Given the description of an element on the screen output the (x, y) to click on. 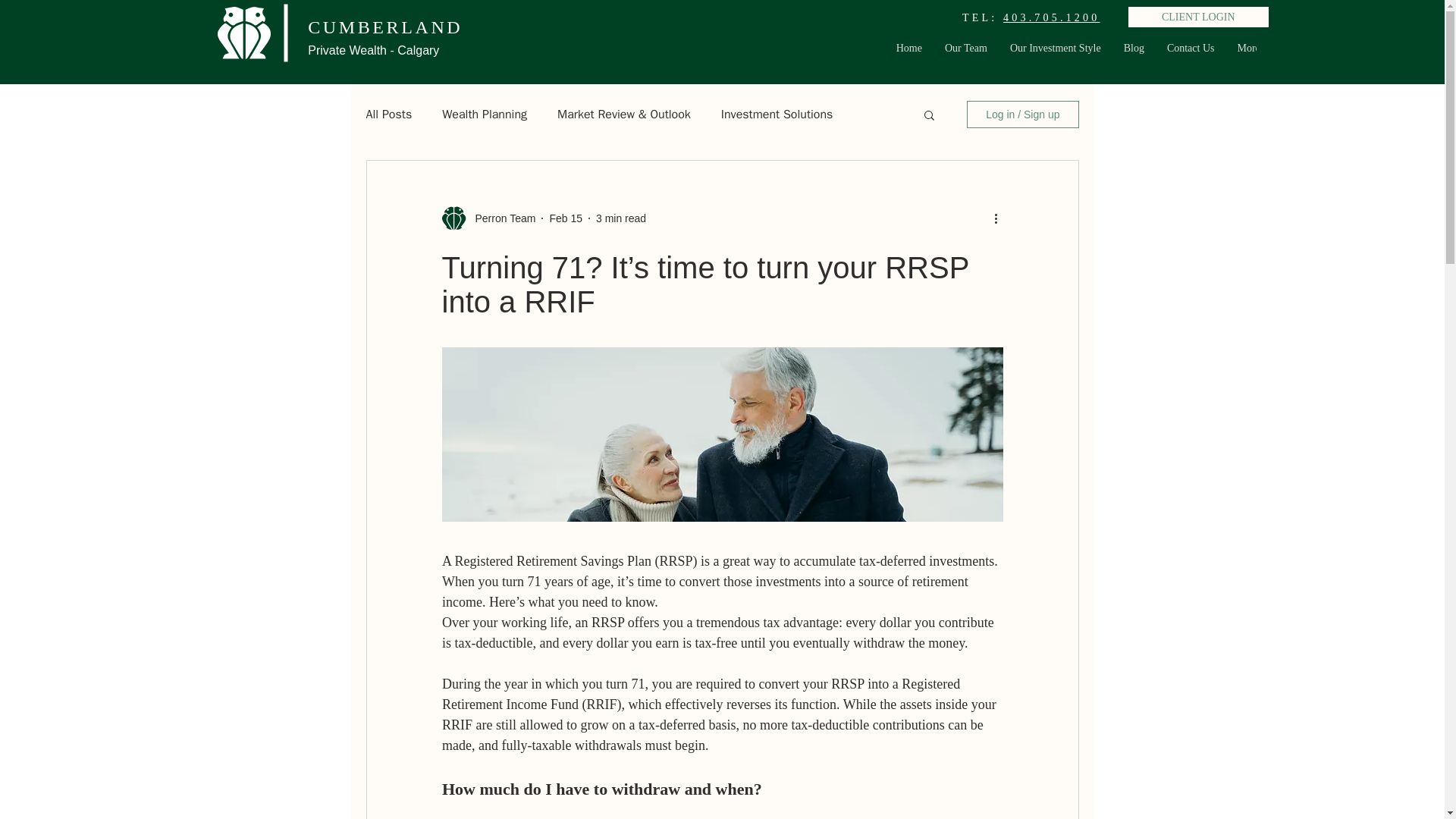
Investment Solutions (776, 114)
All Posts (388, 114)
Private Wealth - Calgary (385, 60)
CLIENT LOGIN (1198, 16)
Contact Us (1190, 44)
Perron Team (500, 218)
Our Team (965, 44)
Feb 15 (565, 218)
Our Investment Style (1055, 44)
403.705.1200 (1051, 17)
